Given the description of an element on the screen output the (x, y) to click on. 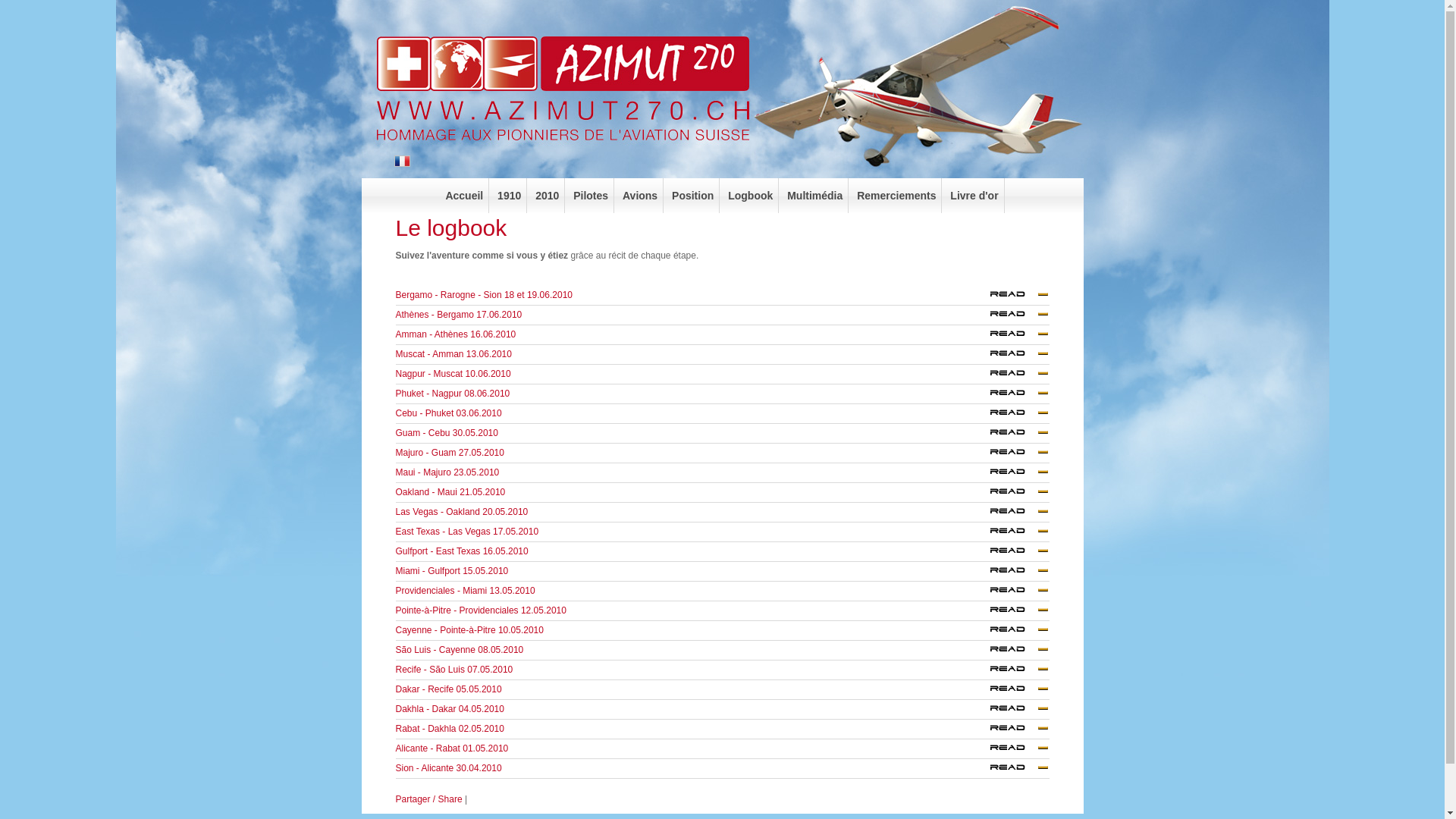
East Texas - Las Vegas 17.05.2010 Element type: hover (1015, 531)
1910 Element type: text (509, 195)
Remerciements Element type: text (896, 195)
Providenciales - Miami 13.05.2010 Element type: hover (1015, 590)
Livre d'or Element type: text (974, 195)
Bergamo - Rarogne - Sion 18 et 19.06.2010 Element type: text (483, 294)
Gulfport - East Texas 16.05.2010 Element type: text (461, 551)
Miami - Gulfport 15.05.2010 Element type: hover (1015, 573)
Miami - Gulfport 15.05.2010 Element type: text (451, 570)
Bergamo - Rarogne - Sion 18 et 19.06.2010 Element type: hover (1015, 295)
Majuro - Guam 27.05.2010 Element type: hover (1015, 455)
Cebu - Phuket 03.06.2010 Element type: hover (1015, 416)
Alicante - Rabat 01.05.2010 Element type: text (451, 748)
Muscat - Amman 13.06.2010 Element type: hover (1015, 354)
Rabat - Dakhla 02.05.2010 Element type: text (449, 728)
Gulfport - East Texas 16.05.2010 Element type: hover (1015, 554)
Sion - Alicante 30.04.2010 Element type: hover (1015, 770)
Providenciales - Miami 13.05.2010 Element type: text (465, 590)
Alicante - Rabat 01.05.2010 Element type: hover (1015, 748)
Providenciales - Miami 13.05.2010 Element type: hover (1015, 593)
East Texas - Las Vegas 17.05.2010 Element type: hover (1015, 534)
Position Element type: text (692, 195)
Oakland - Maui 21.05.2010 Element type: hover (1015, 494)
Rabat - Dakhla 02.05.2010 Element type: hover (1015, 728)
Sion - Alicante 30.04.2010 Element type: hover (1015, 768)
Majuro - Guam 27.05.2010 Element type: text (449, 452)
Dakhla - Dakar 04.05.2010 Element type: hover (1015, 709)
Las Vegas - Oakland 20.05.2010 Element type: hover (1015, 511)
Guam - Cebu 30.05.2010 Element type: text (446, 432)
Sion - Alicante 30.04.2010 Element type: text (448, 767)
Dakar - Recife 05.05.2010 Element type: hover (1015, 692)
Partager / Share Element type: text (428, 798)
Avions Element type: text (640, 195)
Phuket - Nagpur 08.06.2010 Element type: text (452, 393)
Maui - Majuro 23.05.2010 Element type: hover (1015, 475)
Muscat - Amman 13.06.2010 Element type: hover (1015, 356)
Oakland - Maui 21.05.2010 Element type: hover (1015, 492)
Pilotes Element type: text (590, 195)
Majuro - Guam 27.05.2010 Element type: hover (1015, 452)
Accueil Element type: text (464, 195)
Maui - Majuro 23.05.2010 Element type: text (447, 472)
Dakhla - Dakar 04.05.2010 Element type: text (449, 708)
Maui - Majuro 23.05.2010 Element type: hover (1015, 472)
Guam - Cebu 30.05.2010 Element type: hover (1015, 433)
East Texas - Las Vegas 17.05.2010 Element type: text (467, 531)
Guam - Cebu 30.05.2010 Element type: hover (1015, 435)
Dakar - Recife 05.05.2010 Element type: hover (1015, 689)
Muscat - Amman 13.06.2010 Element type: text (453, 353)
Dakhla - Dakar 04.05.2010 Element type: hover (1015, 711)
Nagpur - Muscat 10.06.2010 Element type: hover (1015, 376)
Miami - Gulfport 15.05.2010 Element type: hover (1015, 571)
Cebu - Phuket 03.06.2010 Element type: hover (1015, 413)
Cebu - Phuket 03.06.2010 Element type: text (448, 412)
Oakland - Maui 21.05.2010 Element type: text (450, 491)
Las Vegas - Oakland 20.05.2010 Element type: text (461, 511)
Phuket - Nagpur 08.06.2010 Element type: hover (1015, 396)
Alicante - Rabat 01.05.2010 Element type: hover (1015, 751)
Logbook Element type: text (750, 195)
Dakar - Recife 05.05.2010 Element type: text (448, 689)
Phuket - Nagpur 08.06.2010 Element type: hover (1015, 393)
Nagpur - Muscat 10.06.2010 Element type: text (453, 373)
Nagpur - Muscat 10.06.2010 Element type: hover (1015, 373)
Gulfport - East Texas 16.05.2010 Element type: hover (1015, 551)
Rabat - Dakhla 02.05.2010 Element type: hover (1015, 731)
Bergamo - Rarogne - Sion 18 et 19.06.2010 Element type: hover (1015, 297)
2010 Element type: text (547, 195)
Las Vegas - Oakland 20.05.2010 Element type: hover (1015, 514)
